Given the description of an element on the screen output the (x, y) to click on. 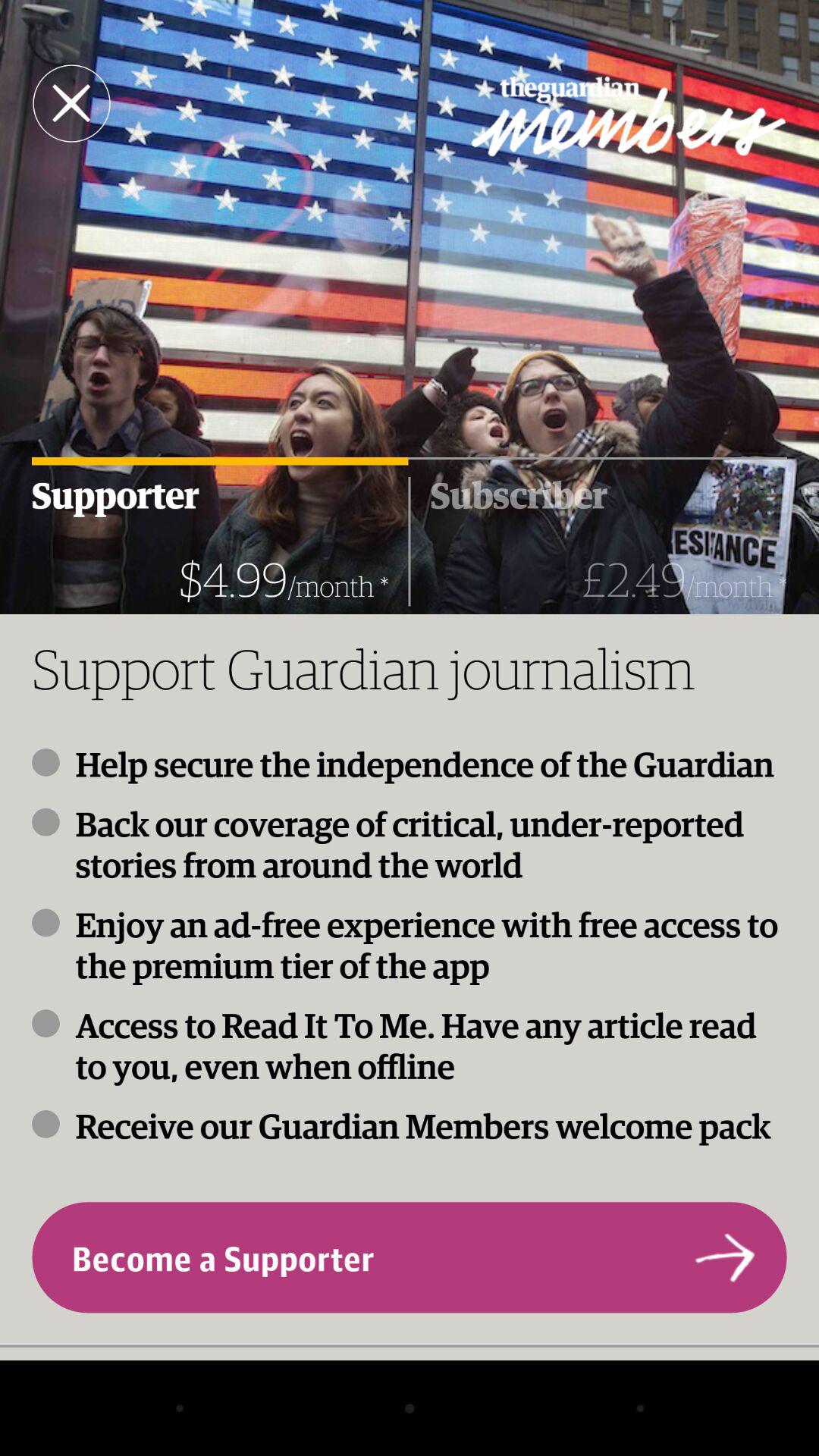
close (71, 103)
